Given the description of an element on the screen output the (x, y) to click on. 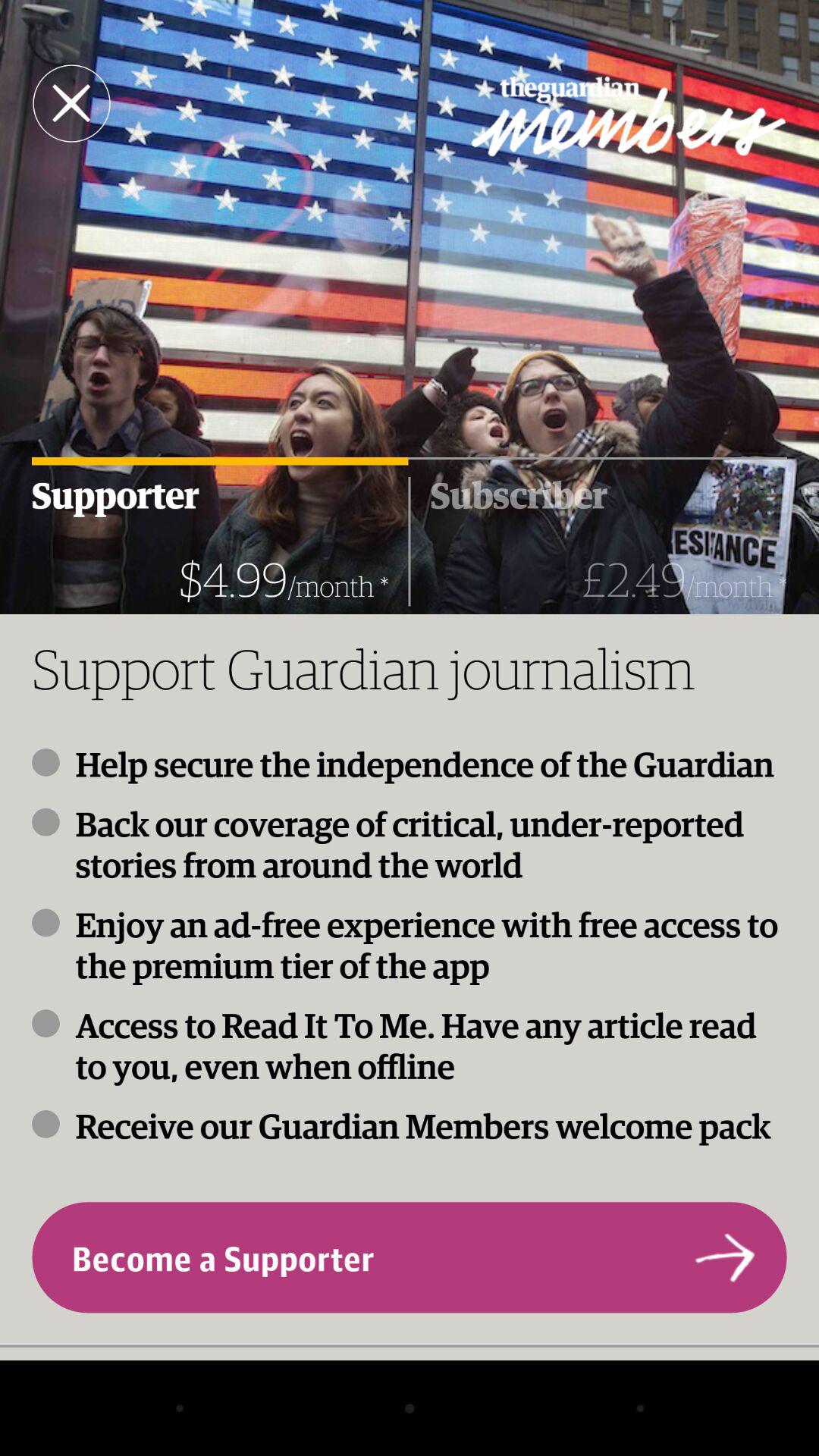
close (71, 103)
